Given the description of an element on the screen output the (x, y) to click on. 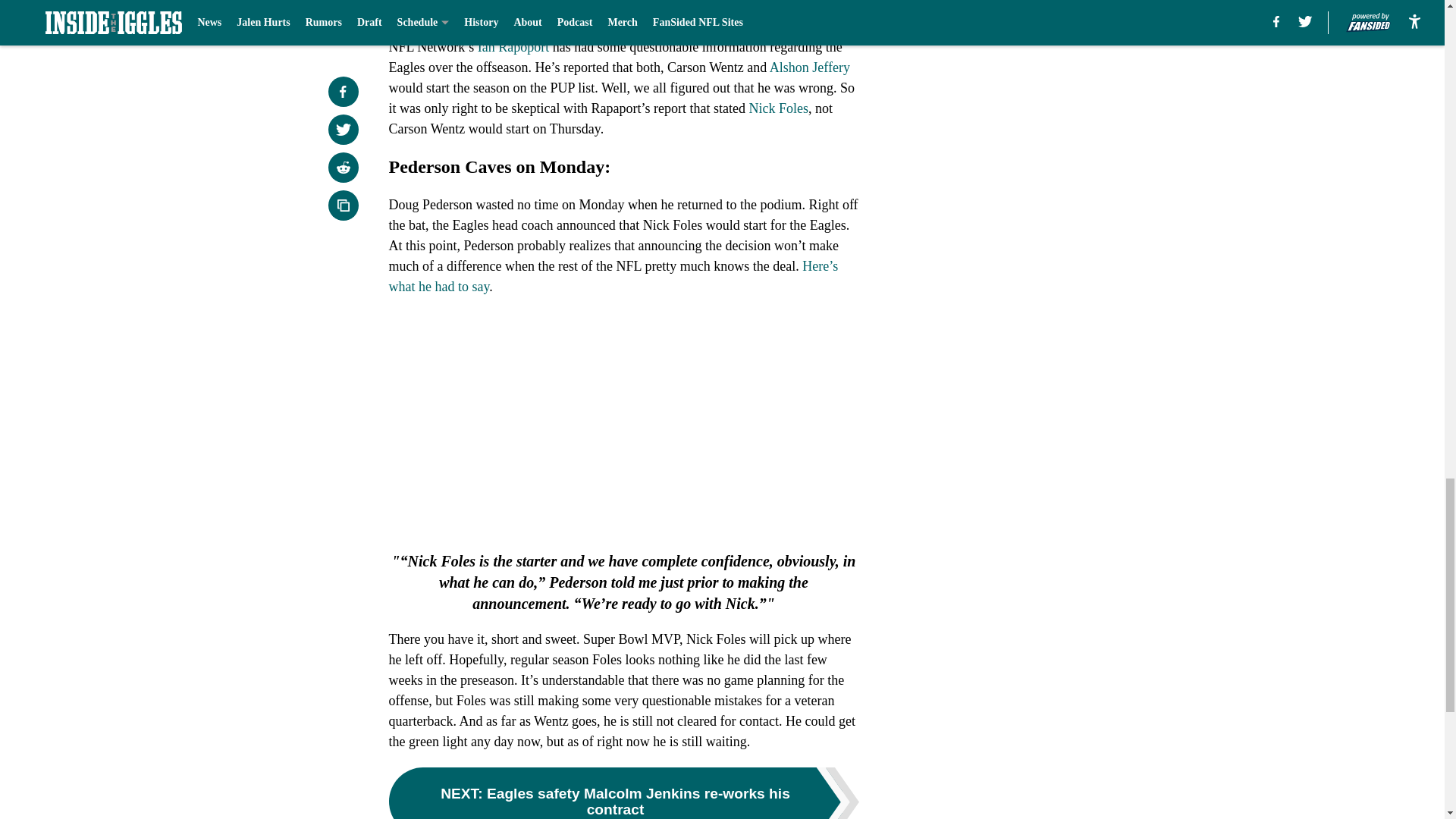
Nick Foles (778, 108)
Ian Rapoport (512, 46)
Alshon Jeffery (810, 67)
NEXT: Eagles safety Malcolm Jenkins re-works his contract (623, 793)
